Given the description of an element on the screen output the (x, y) to click on. 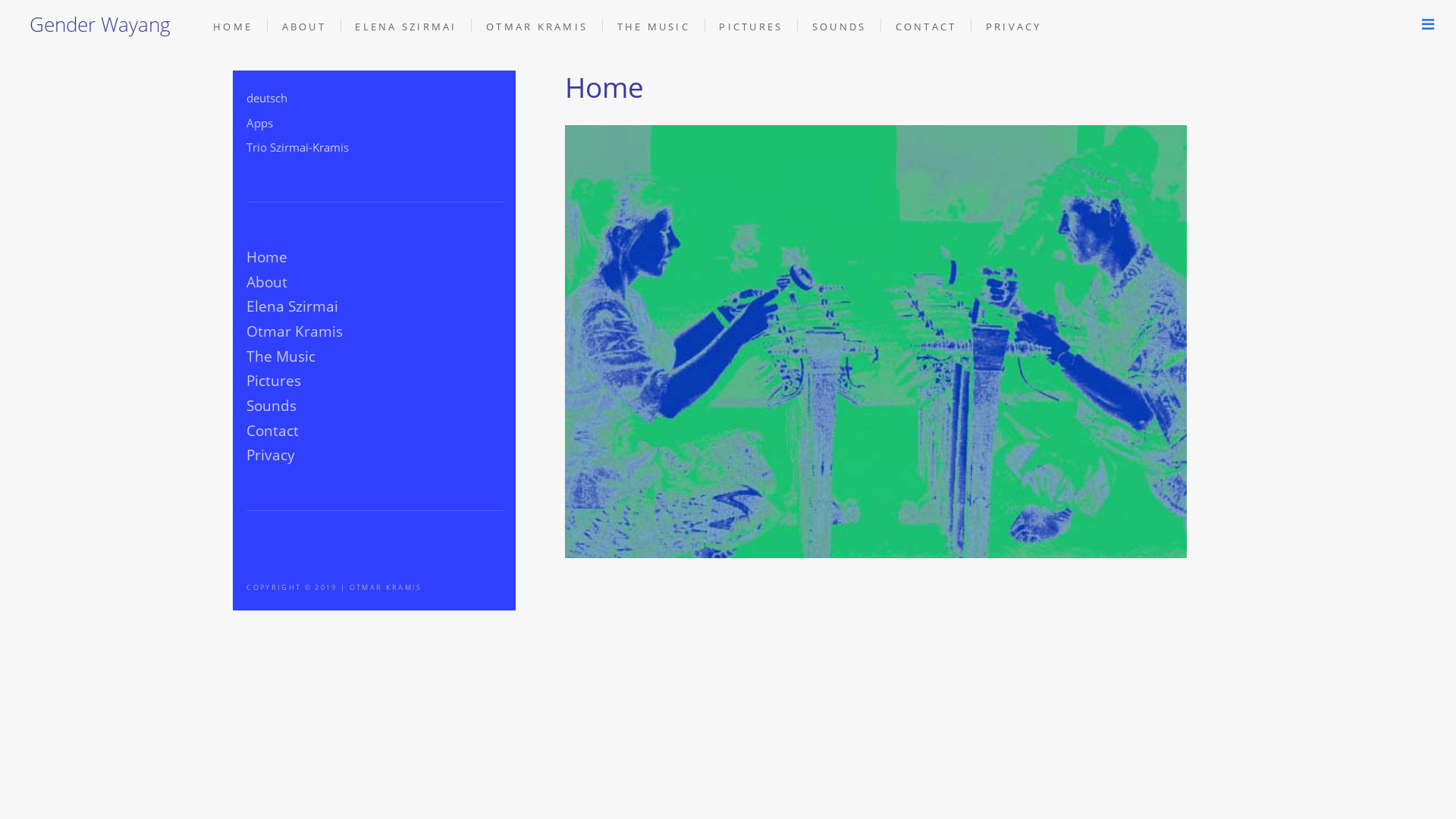
Pictures Element type: text (273, 379)
Otmar Kramis Element type: text (294, 330)
ABOUT Element type: text (304, 26)
PICTURES Element type: text (750, 26)
deutsch Element type: text (266, 97)
ELENA SZIRMAI Element type: text (405, 26)
SOUNDS Element type: text (839, 26)
Sounds Element type: text (271, 404)
Gender Wayang Element type: text (99, 23)
Privacy Element type: text (270, 454)
The Music Element type: text (280, 355)
Contact Element type: text (272, 429)
Apps Element type: text (259, 122)
Home Element type: text (266, 256)
Elena Szirmai Element type: text (292, 305)
CONTACT Element type: text (926, 26)
PRIVACY Element type: text (1013, 26)
HOME Element type: text (232, 26)
About Element type: text (266, 281)
OTMAR KRAMIS Element type: text (536, 26)
THE MUSIC Element type: text (653, 26)
Trio Szirmai-Kramis Element type: text (297, 146)
